Given the description of an element on the screen output the (x, y) to click on. 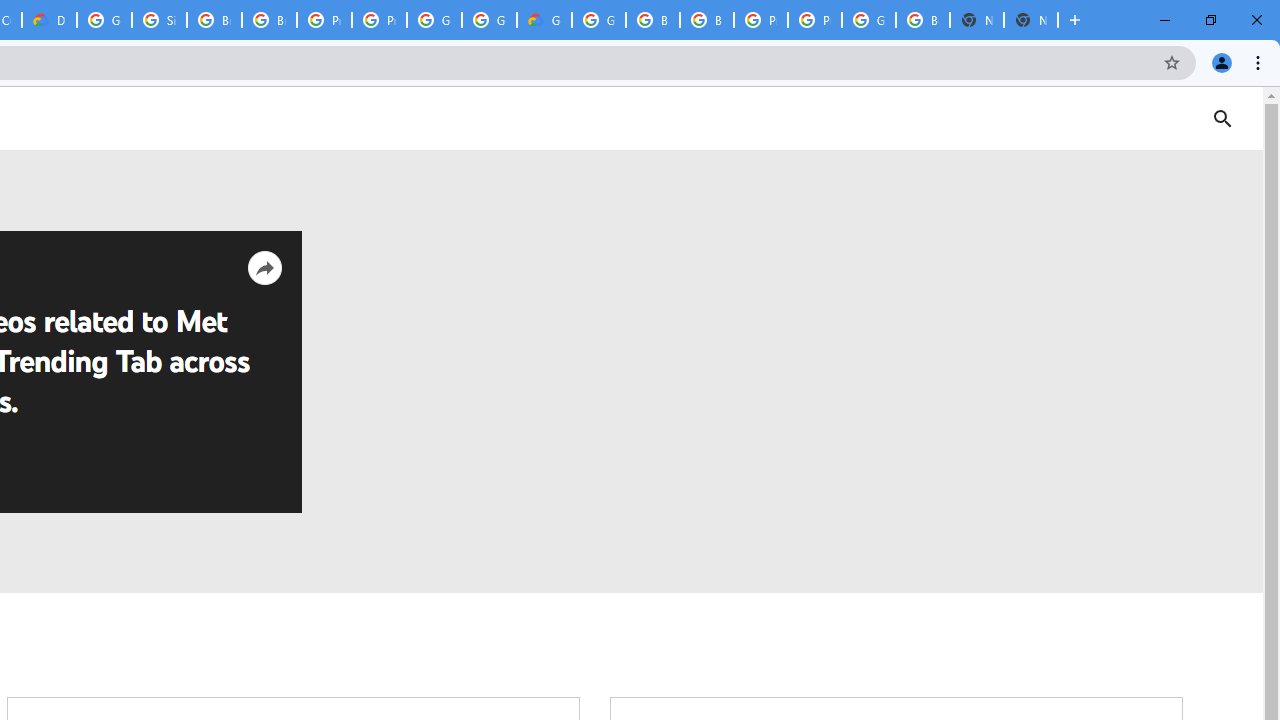
Google Cloud Platform (103, 20)
Google Cloud Platform (868, 20)
New Tab (1030, 20)
Toggle share toolbar open/closed (264, 268)
Google Cloud Platform (434, 20)
